Given the description of an element on the screen output the (x, y) to click on. 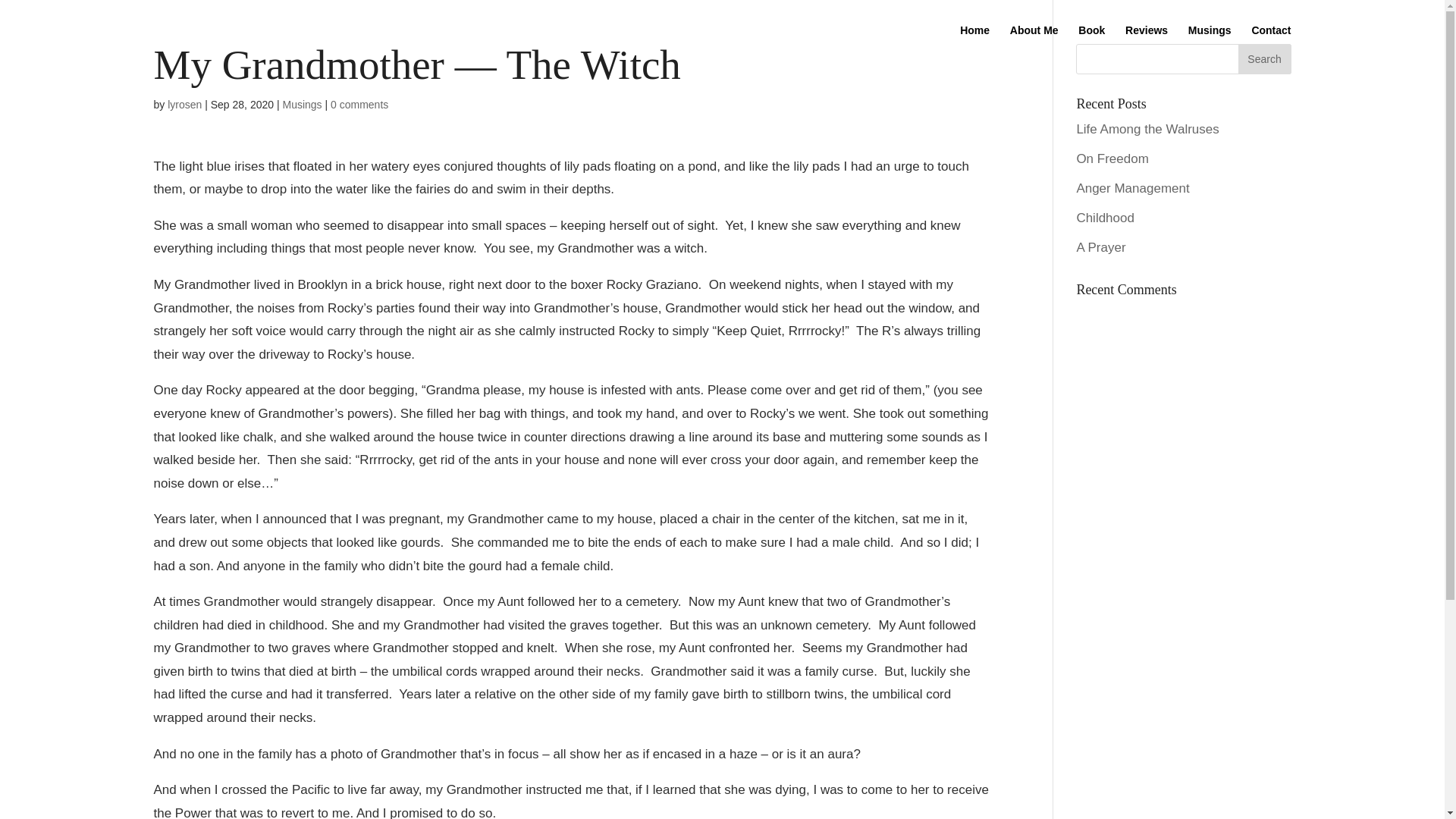
Contact (1270, 42)
Life Among the Walruses (1146, 129)
A Prayer (1100, 247)
Anger Management (1132, 187)
0 comments (359, 104)
About Me (1034, 42)
Search (1263, 59)
Reviews (1146, 42)
Posts by lyrosen (184, 104)
Search (1263, 59)
